Given the description of an element on the screen output the (x, y) to click on. 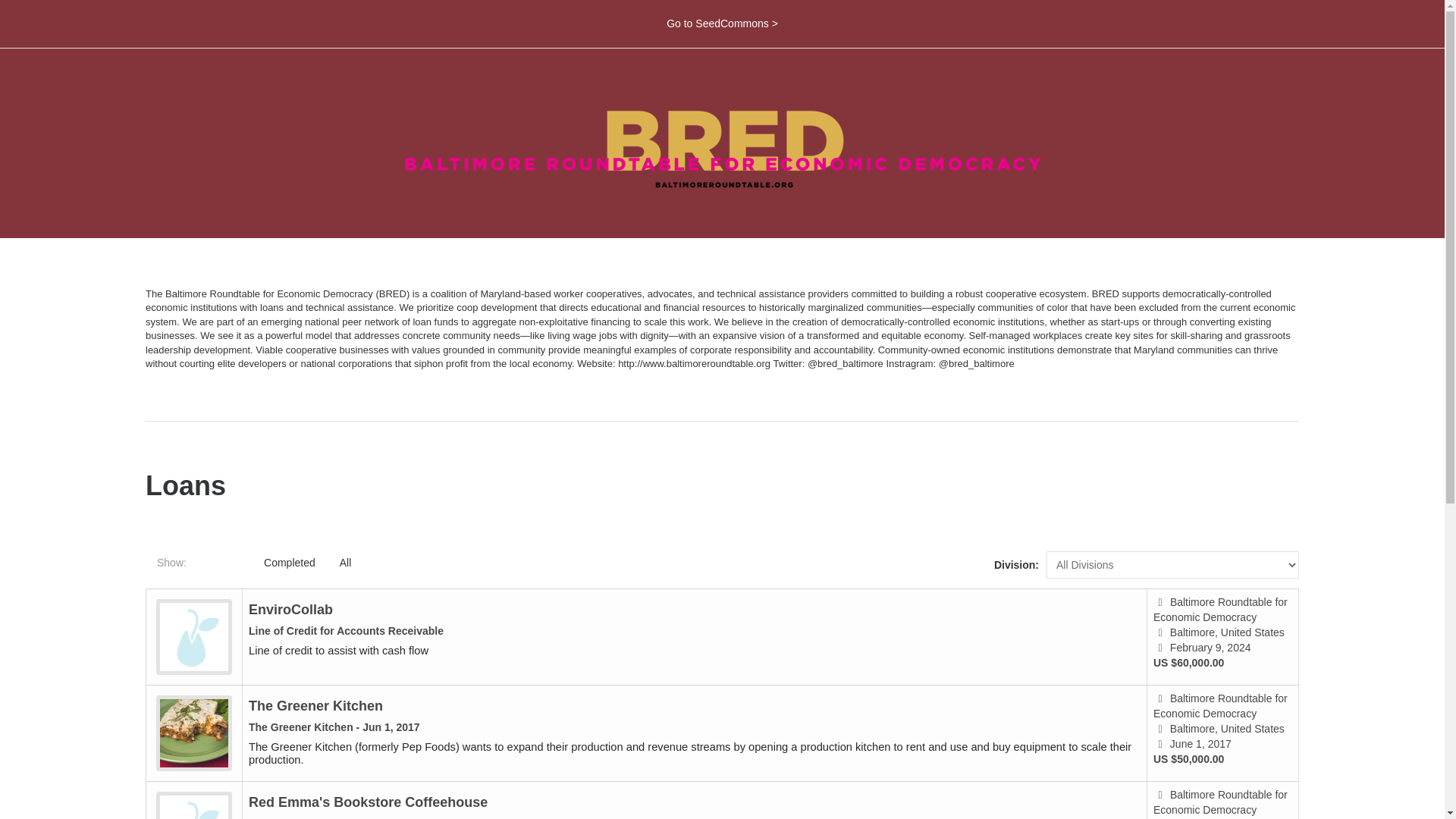
Baltimore Roundtable for Economic Democracy (1220, 801)
U.S. Dollars (1164, 758)
All (345, 563)
Baltimore Roundtable for Economic Democracy (1220, 705)
Red Emma's Bookstore Coffeehouse (367, 801)
Baltimore Roundtable for Economic Democracy (1220, 609)
Completed (288, 563)
Active (224, 563)
EnviroCollab (290, 609)
The Greener Kitchen (315, 705)
The Greener Kitchen - Jun 1, 2017 (334, 727)
Line of Credit for Accounts Receivable (346, 630)
U.S. Dollars (1164, 662)
